Given the description of an element on the screen output the (x, y) to click on. 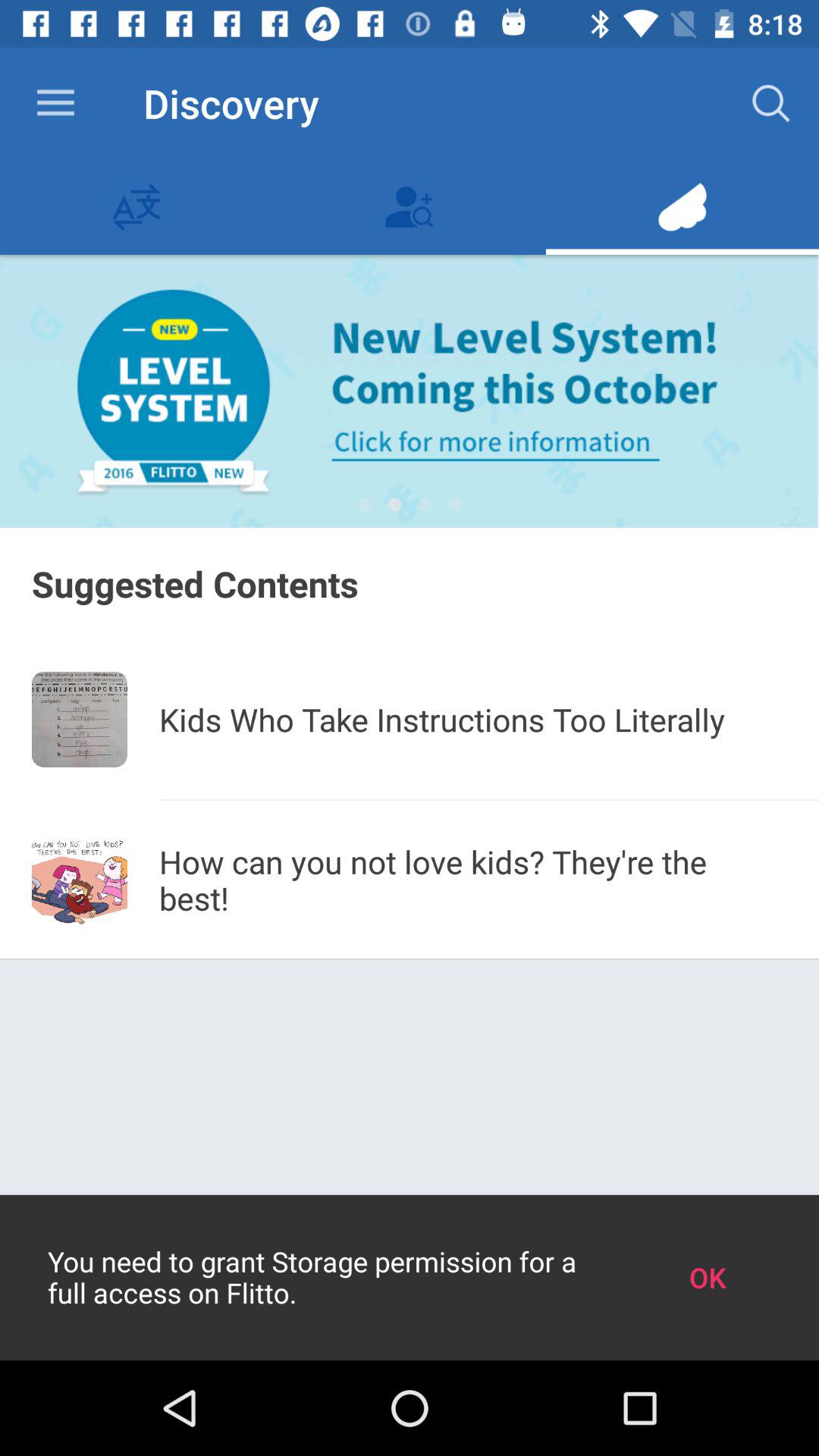
select icon above the how can you item (489, 799)
